Given the description of an element on the screen output the (x, y) to click on. 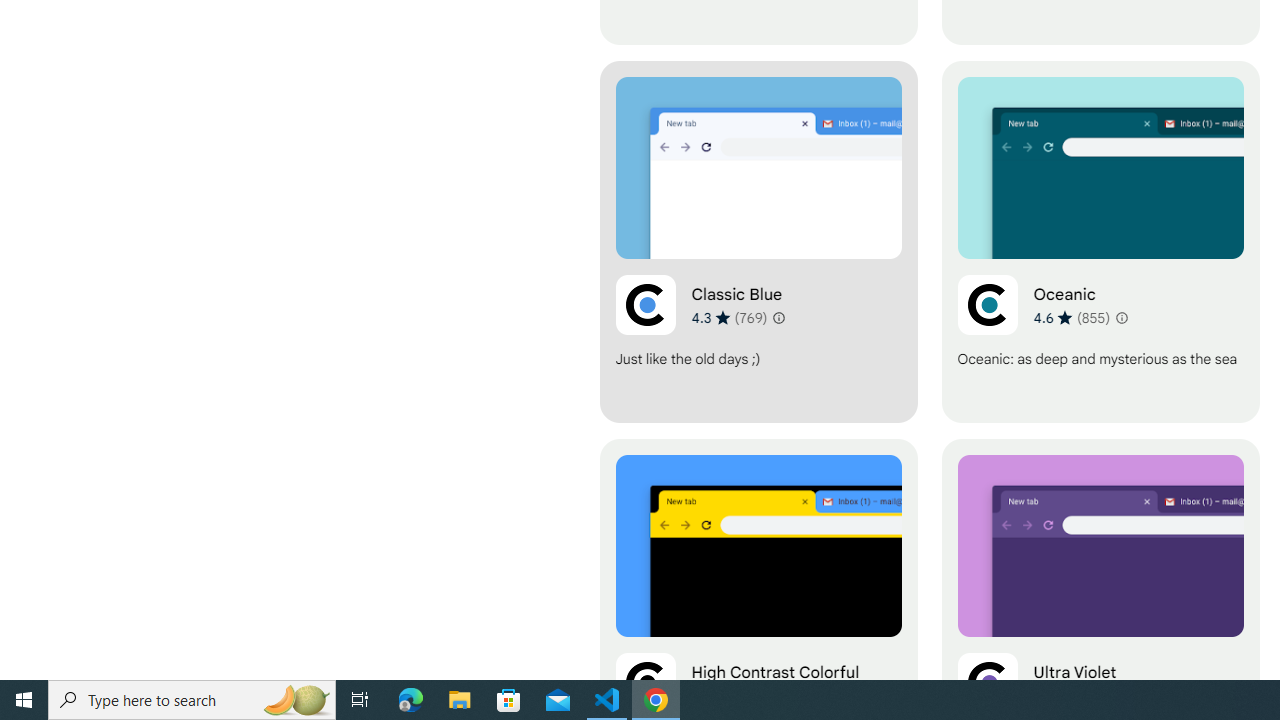
Classic Blue (758, 242)
Average rating 4.6 out of 5 stars. 855 ratings. (1071, 317)
Learn more about results and reviews "Classic Blue" (778, 317)
Learn more about results and reviews "Oceanic" (1120, 317)
Average rating 4.3 out of 5 stars. 769 ratings. (729, 317)
Oceanic (1099, 242)
